Given the description of an element on the screen output the (x, y) to click on. 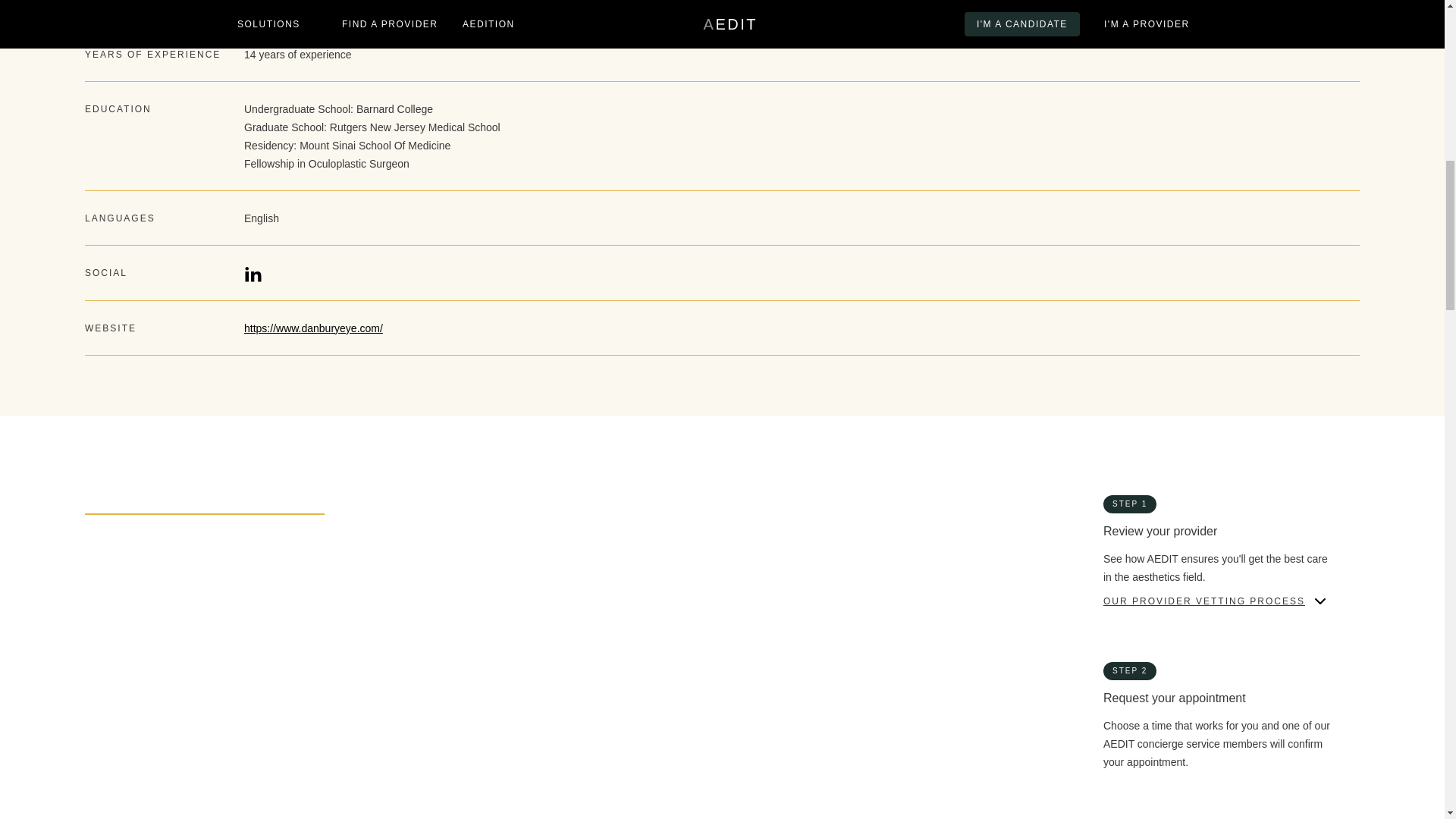
SAGGING UPPER EYELID (155, 665)
LIP PTOSIS (116, 633)
SPARSE EYELASHES (468, 665)
BREATHING ISSUES (140, 566)
EYELASH VOLUME (785, 566)
BLEPHAROPLASTY (137, 733)
EYELID MALPOSITION (146, 599)
BROW LIFT (440, 733)
HEAVY BROW (771, 599)
LIP REDUCTION (454, 633)
CHIN AUGMENTATION (470, 566)
NOSE SIZE (763, 633)
FOREHEAD REDUCTION (476, 599)
